Given the description of an element on the screen output the (x, y) to click on. 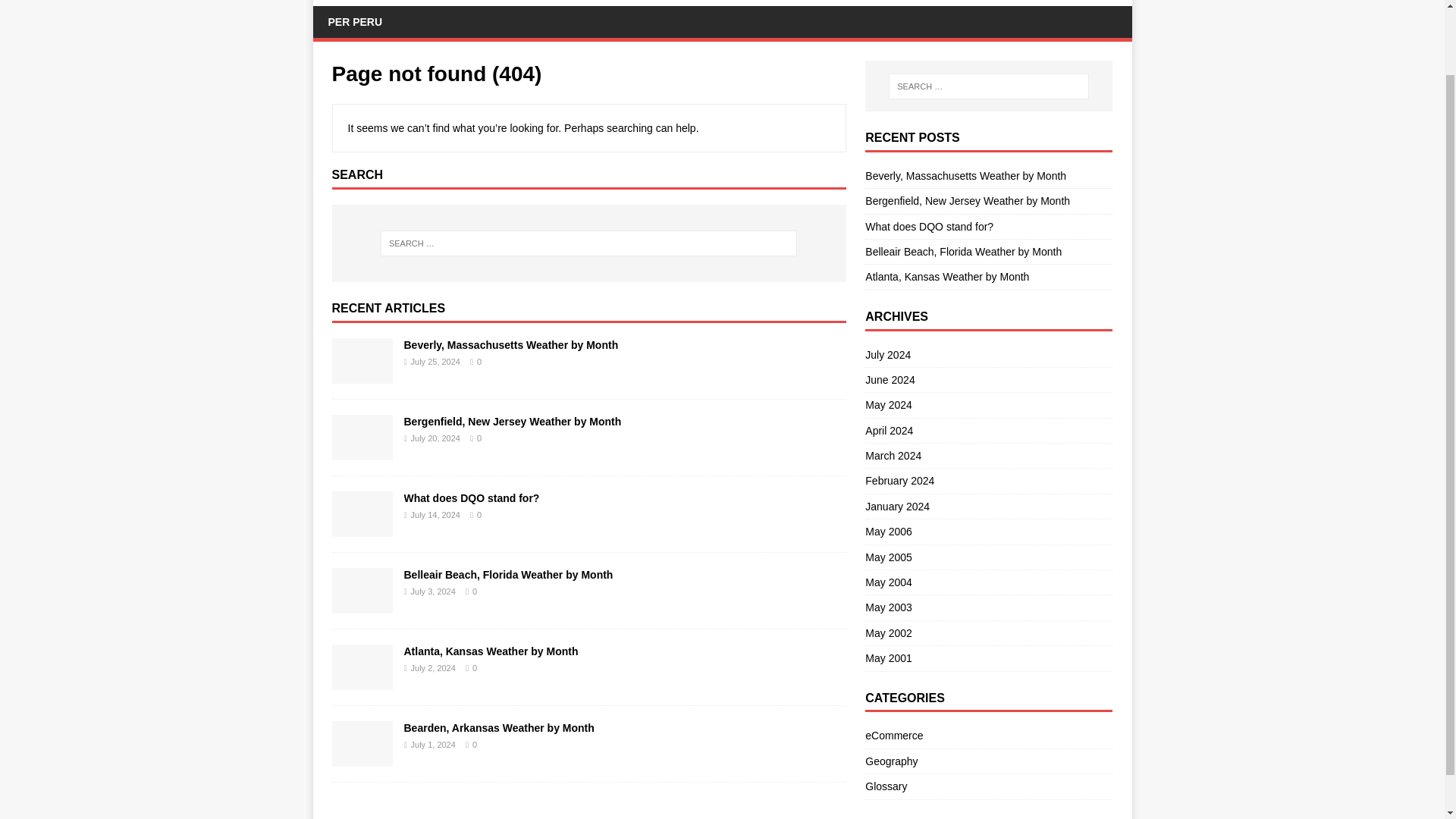
May 2004 (988, 582)
What does DQO stand for? (362, 527)
May 2005 (988, 557)
Atlanta, Kansas Weather by Month (490, 651)
Bearden, Arkansas Weather by Month (498, 727)
May 2006 (988, 531)
January 2024 (988, 506)
PER PERU (355, 21)
Belleair Beach, Florida Weather by Month (507, 574)
What does DQO stand for? (470, 498)
Beverly, Massachusetts Weather by Month (362, 374)
Bergenfield, New Jersey Weather by Month (512, 421)
July 2024 (988, 356)
May 2003 (988, 607)
What does DQO stand for? (470, 498)
